Given the description of an element on the screen output the (x, y) to click on. 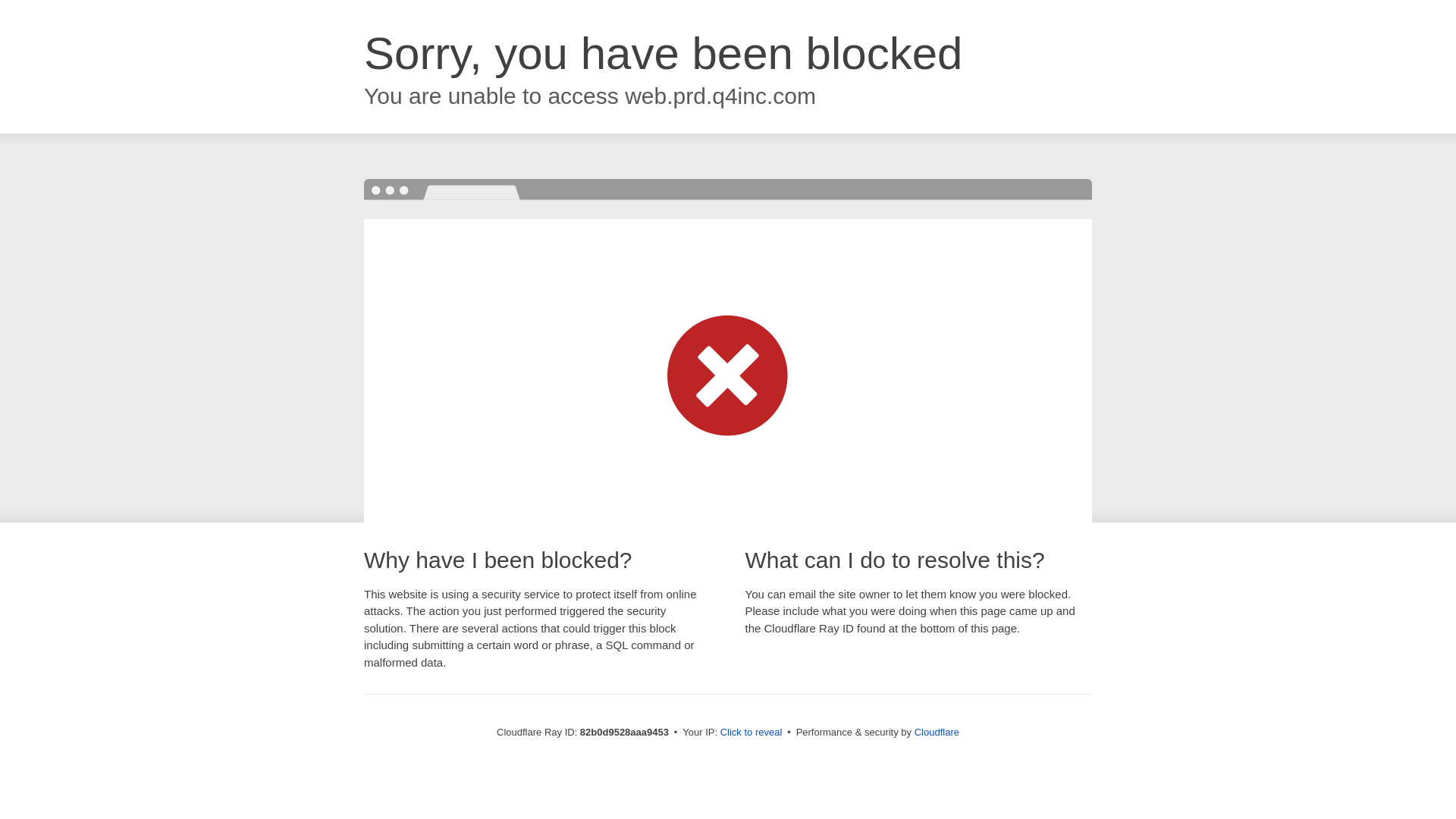
Cloudflare Element type: text (936, 731)
Click to reveal Element type: text (751, 732)
